Given the description of an element on the screen output the (x, y) to click on. 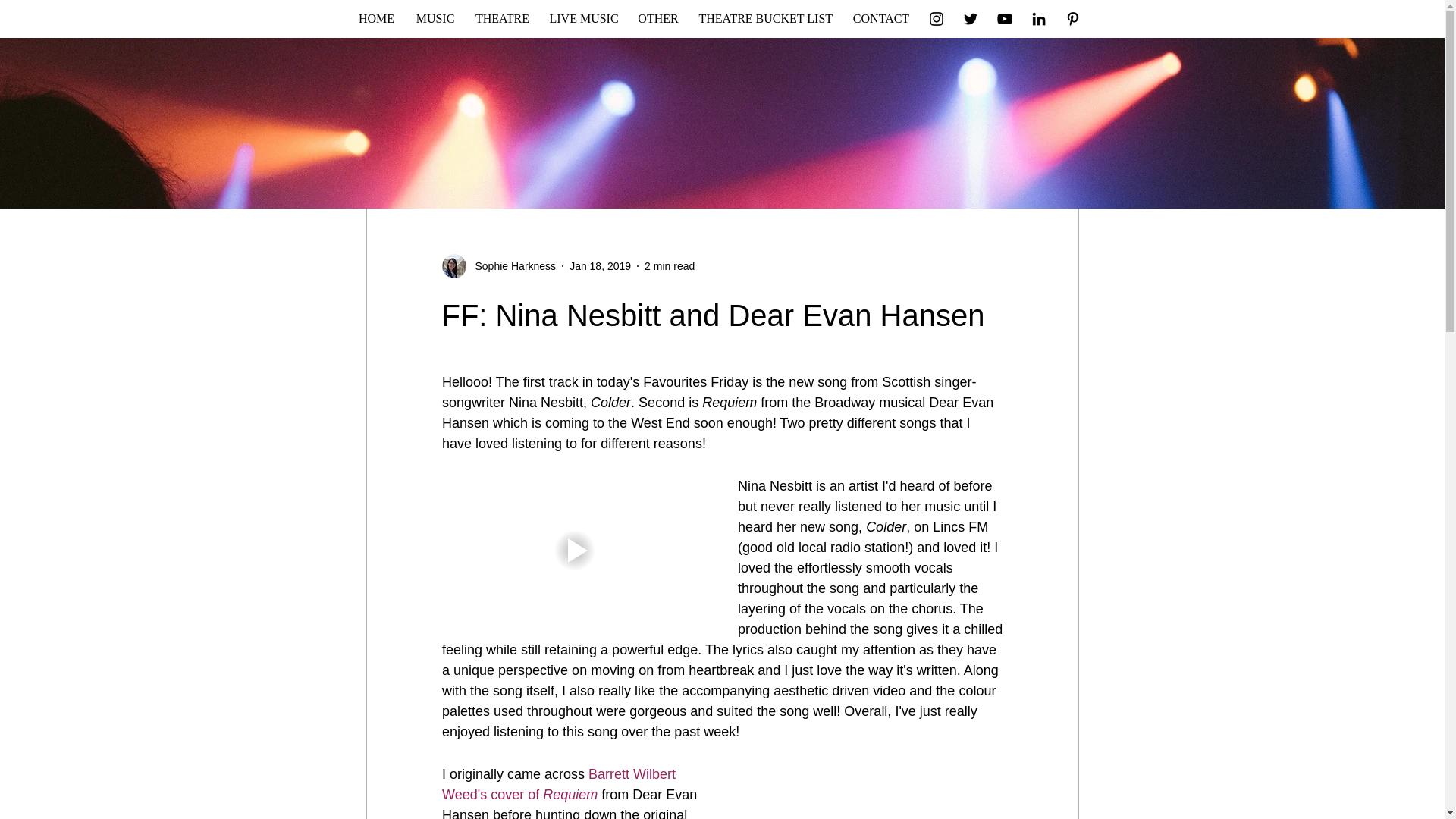
HOME (375, 18)
Requiem (569, 794)
MUSIC (434, 18)
THEATRE (502, 18)
THEATRE BUCKET LIST (764, 18)
CONTACT (881, 18)
Jan 18, 2019 (599, 265)
LIVE MUSIC (583, 18)
 Barrett Wilbert Weed's cover of  (559, 784)
2 min read (669, 265)
